Given the description of an element on the screen output the (x, y) to click on. 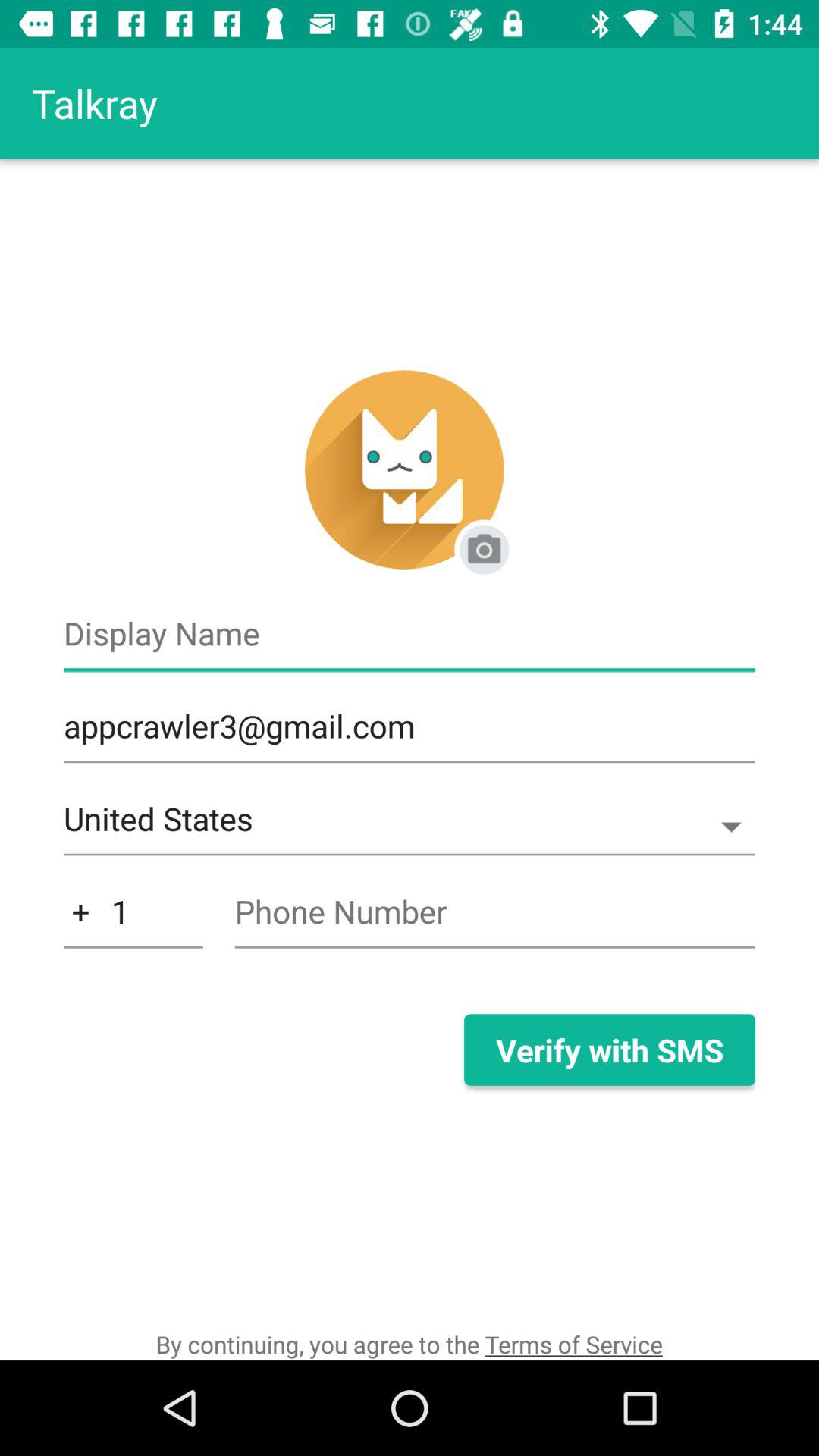
open by continuing you icon (408, 1344)
